Given the description of an element on the screen output the (x, y) to click on. 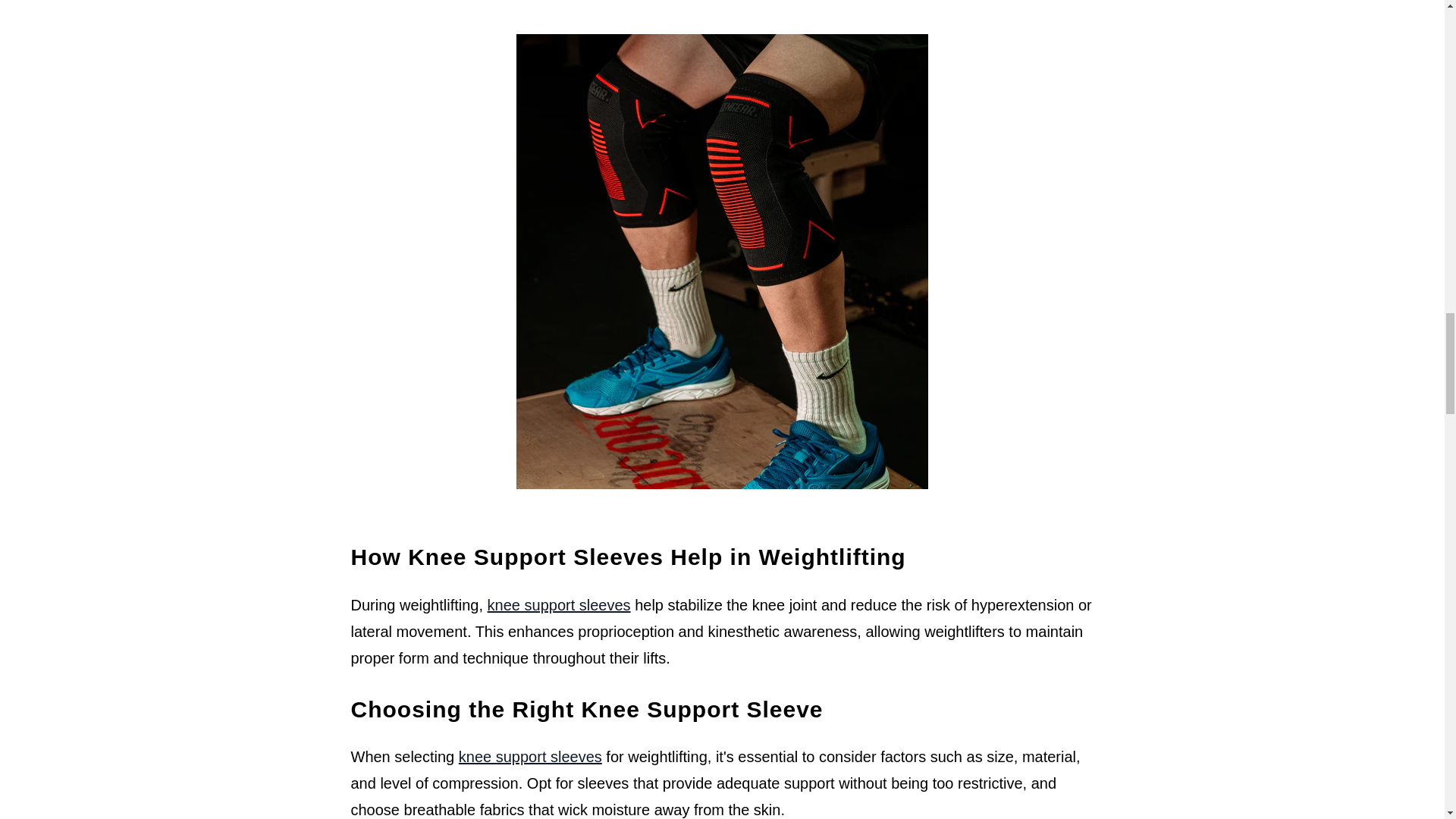
knee support sleeves (558, 605)
knee support sleeves (530, 756)
